Given the description of an element on the screen output the (x, y) to click on. 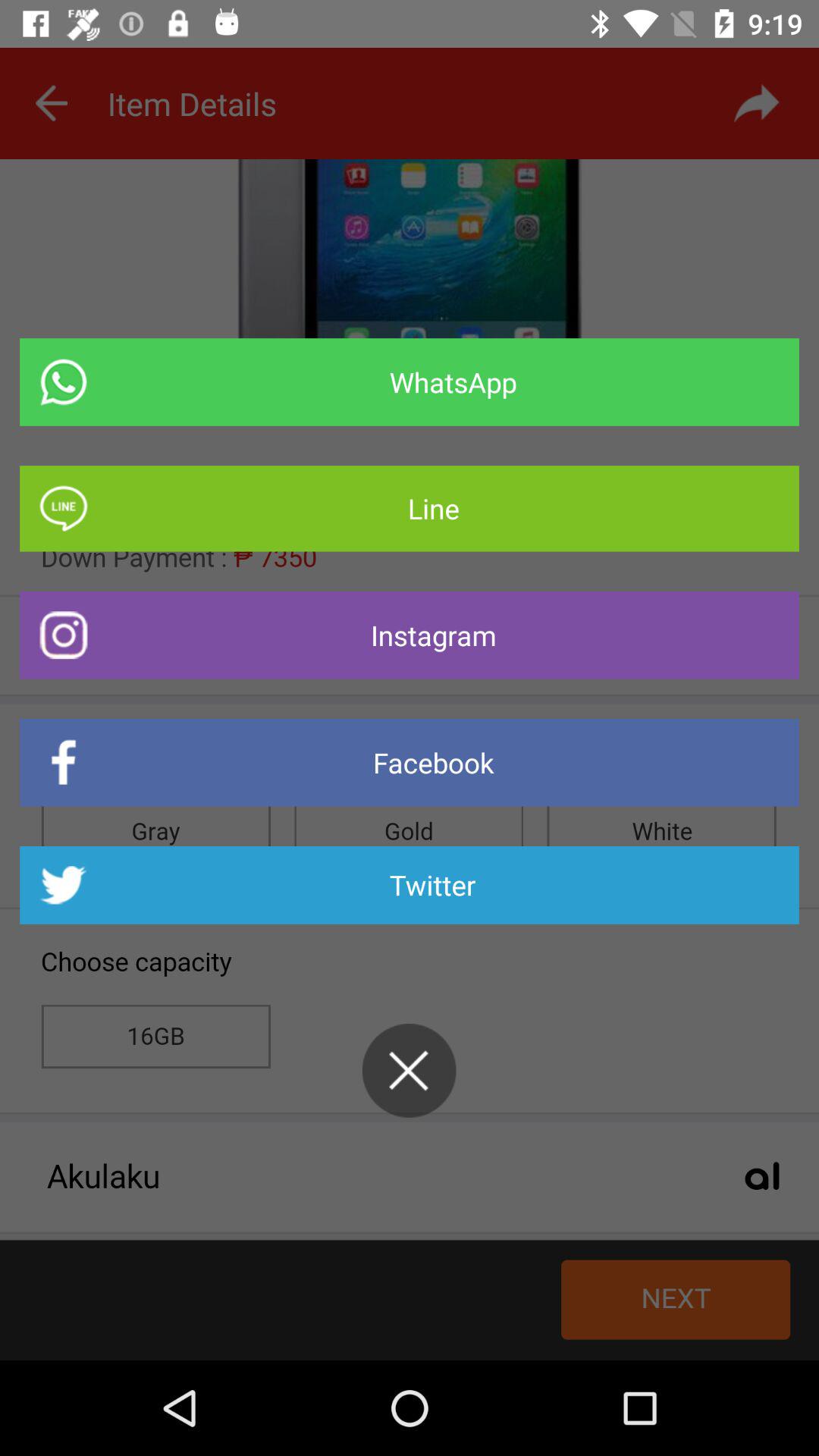
select icon above instagram item (409, 508)
